Given the description of an element on the screen output the (x, y) to click on. 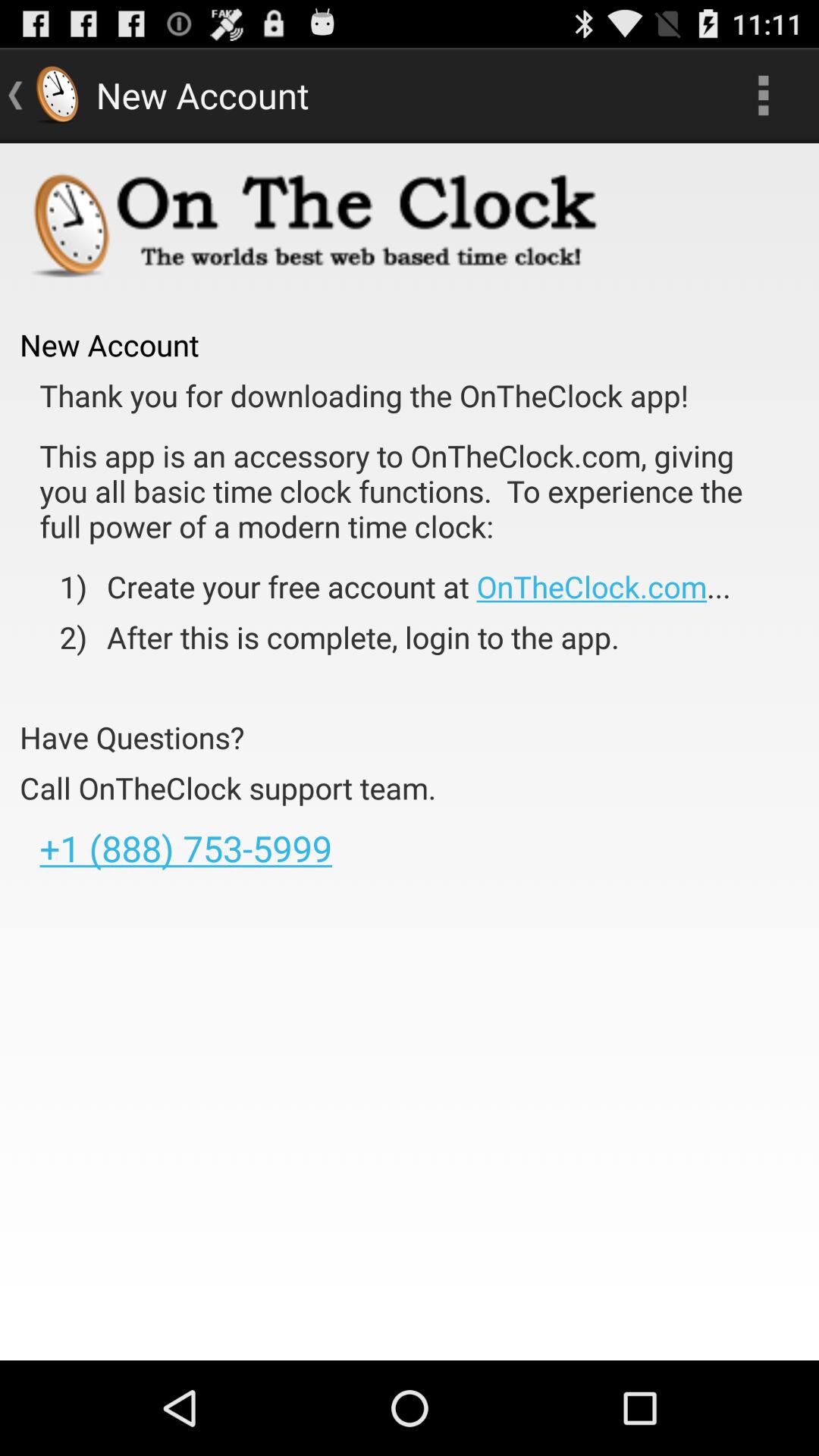
tap app above the 2) item (408, 586)
